Given the description of an element on the screen output the (x, y) to click on. 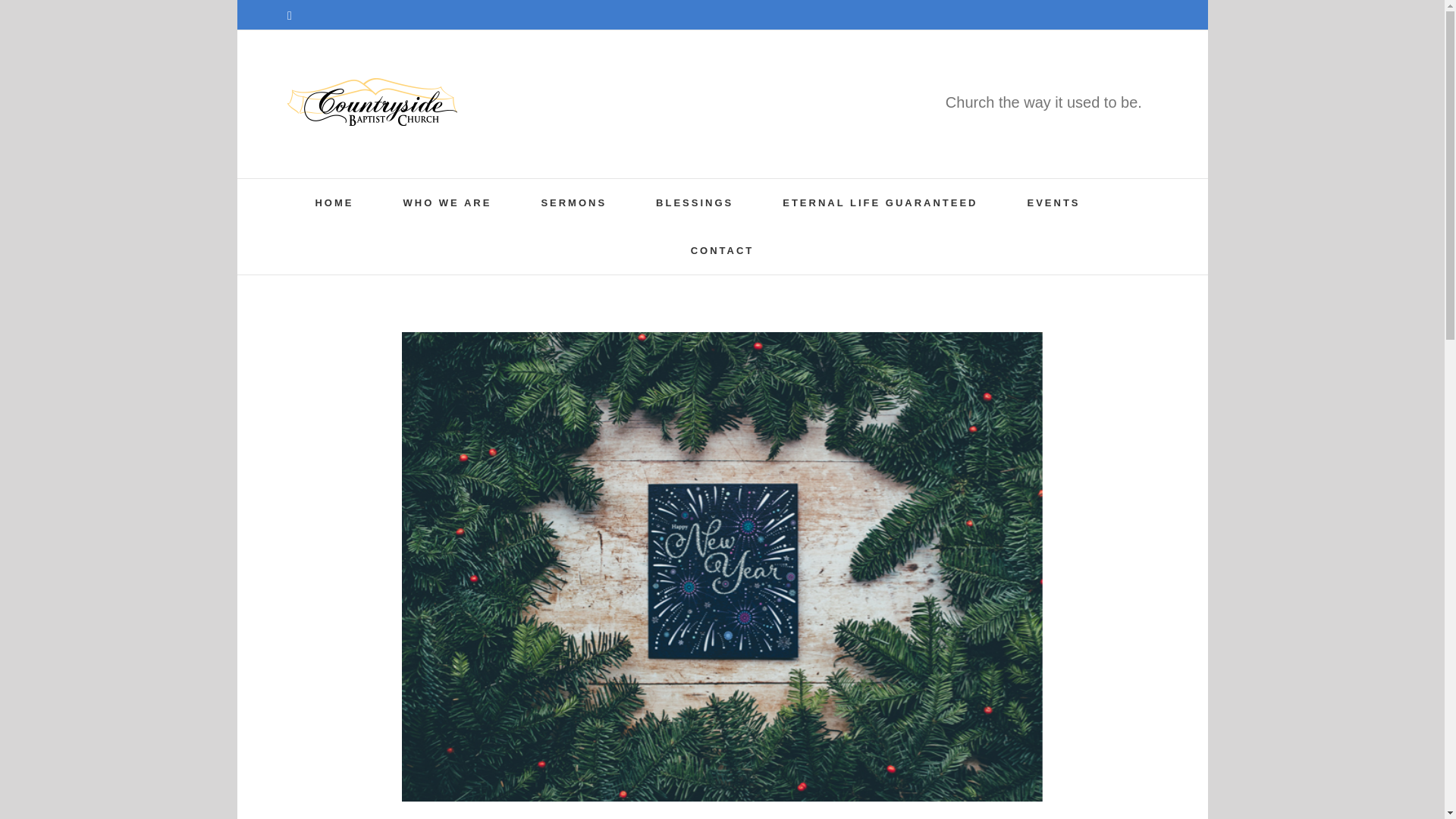
ETERNAL LIFE GUARANTEED (879, 202)
EVENTS (1053, 202)
BLESSINGS (694, 202)
WHO WE ARE (447, 202)
SERMONS (573, 202)
CONTACT (722, 250)
